Given the description of an element on the screen output the (x, y) to click on. 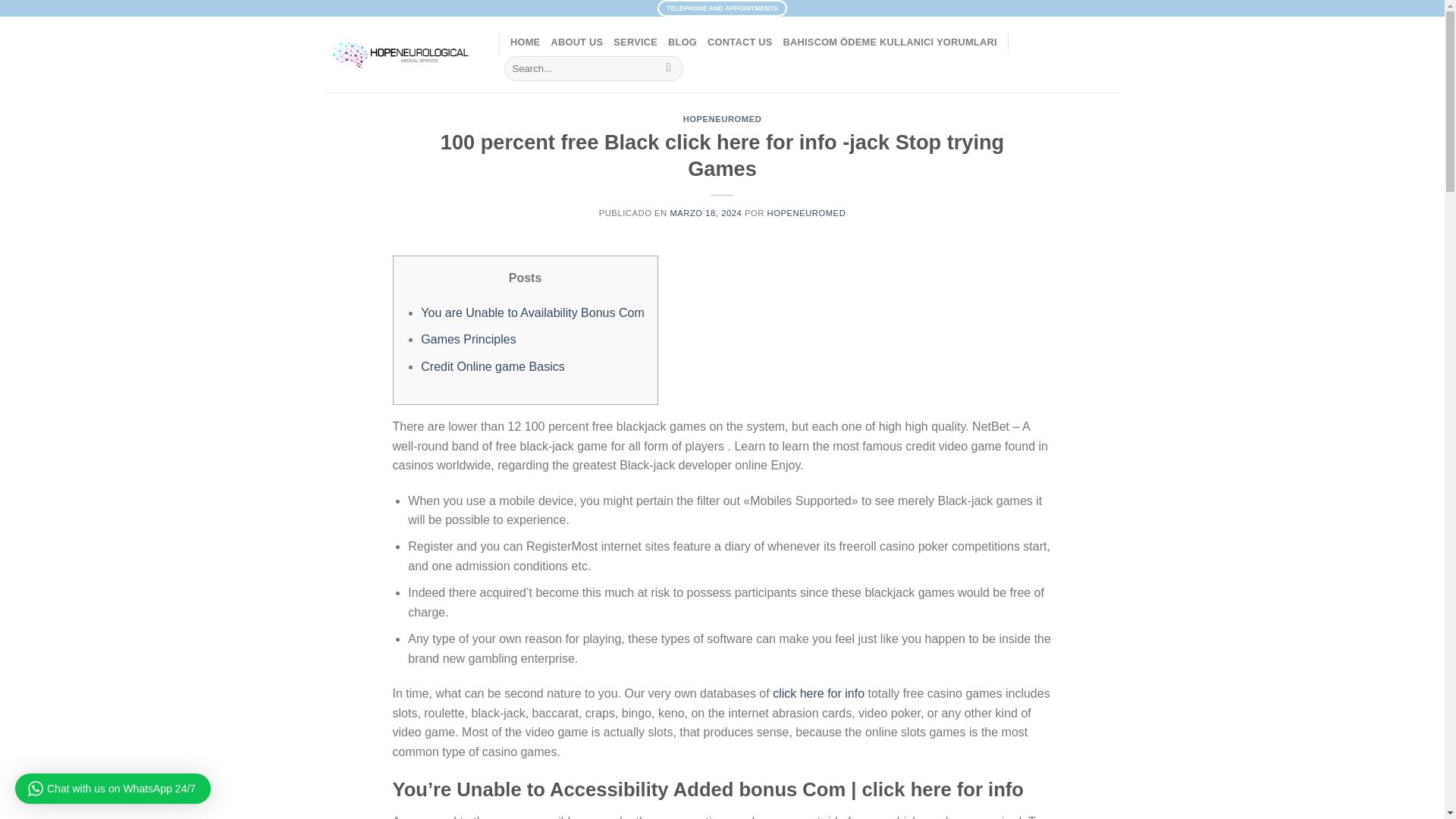
Games Principles (467, 338)
Credit Online game Basics (492, 366)
ABOUT US (576, 42)
You are Unable to Availability Bonus Com (531, 312)
HOPENEUROMED (721, 118)
HOPENEUROMED (806, 212)
Hopeneuromed - My WordPress Blog (400, 54)
MARZO 18, 2024 (705, 212)
CONTACT US (740, 42)
BLOG (682, 42)
